Given the description of an element on the screen output the (x, y) to click on. 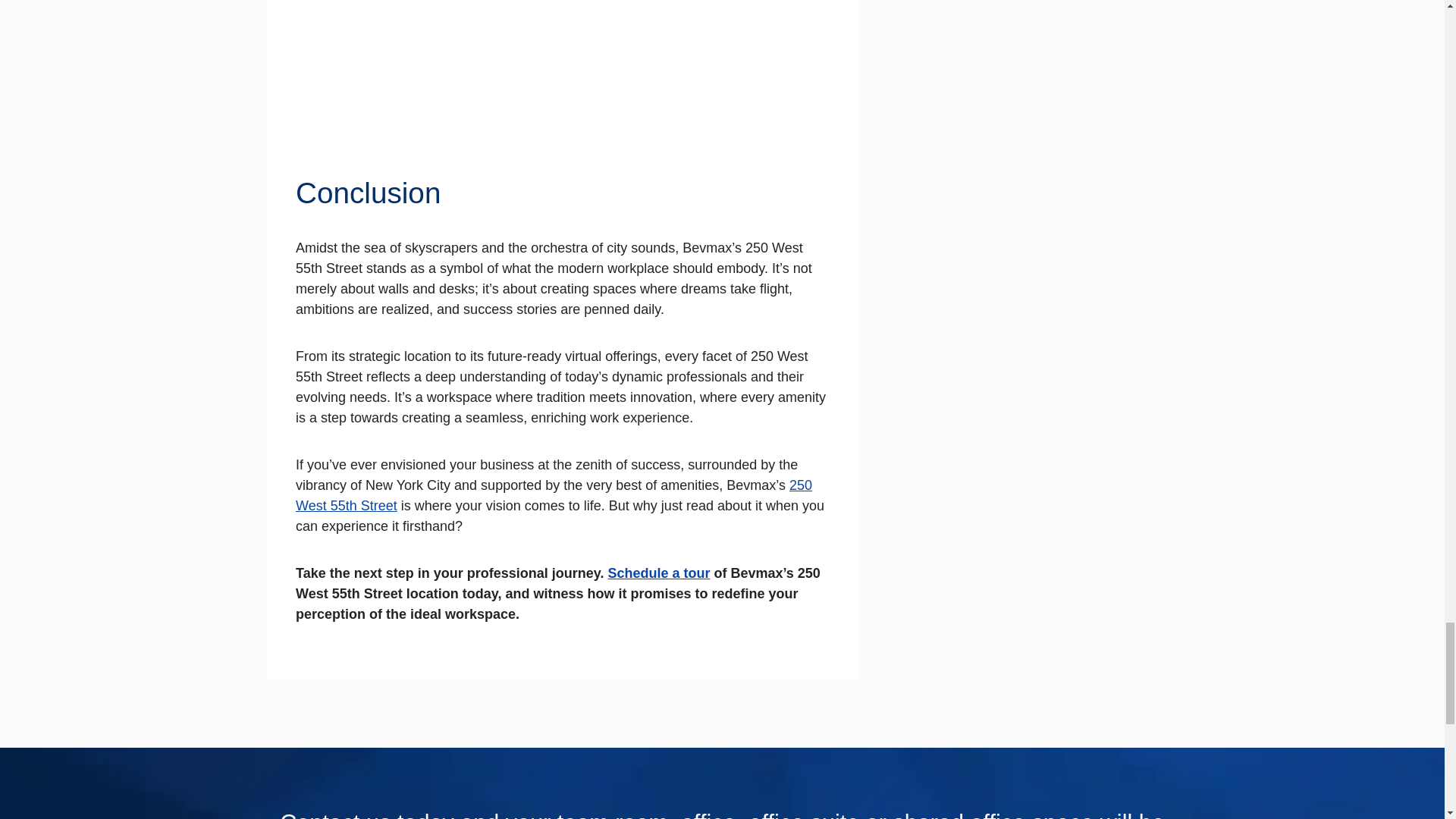
Schedule a tour (658, 572)
250 West 55th Street (553, 495)
